Given the description of an element on the screen output the (x, y) to click on. 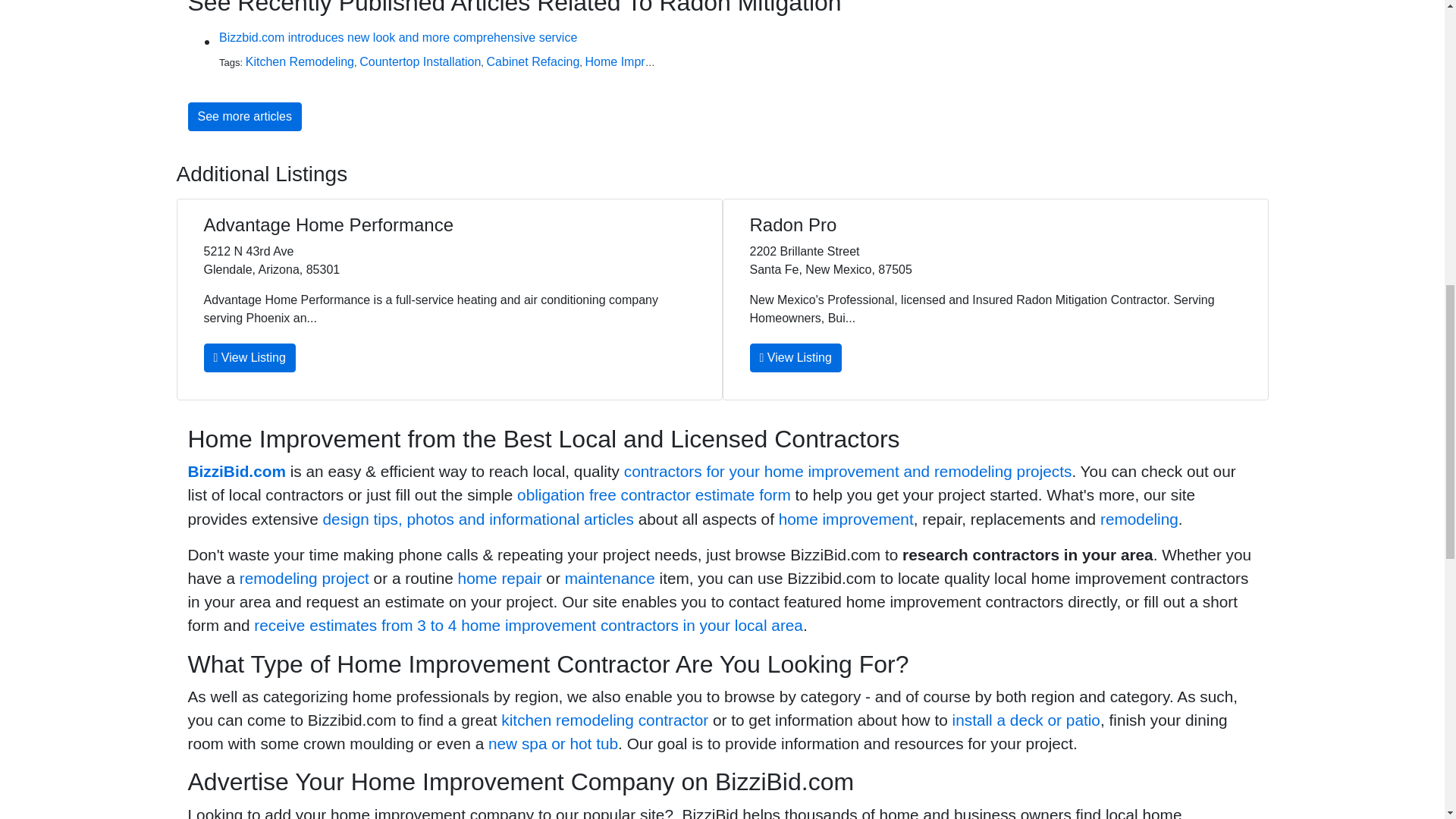
home improvement articles (478, 518)
